Given the description of an element on the screen output the (x, y) to click on. 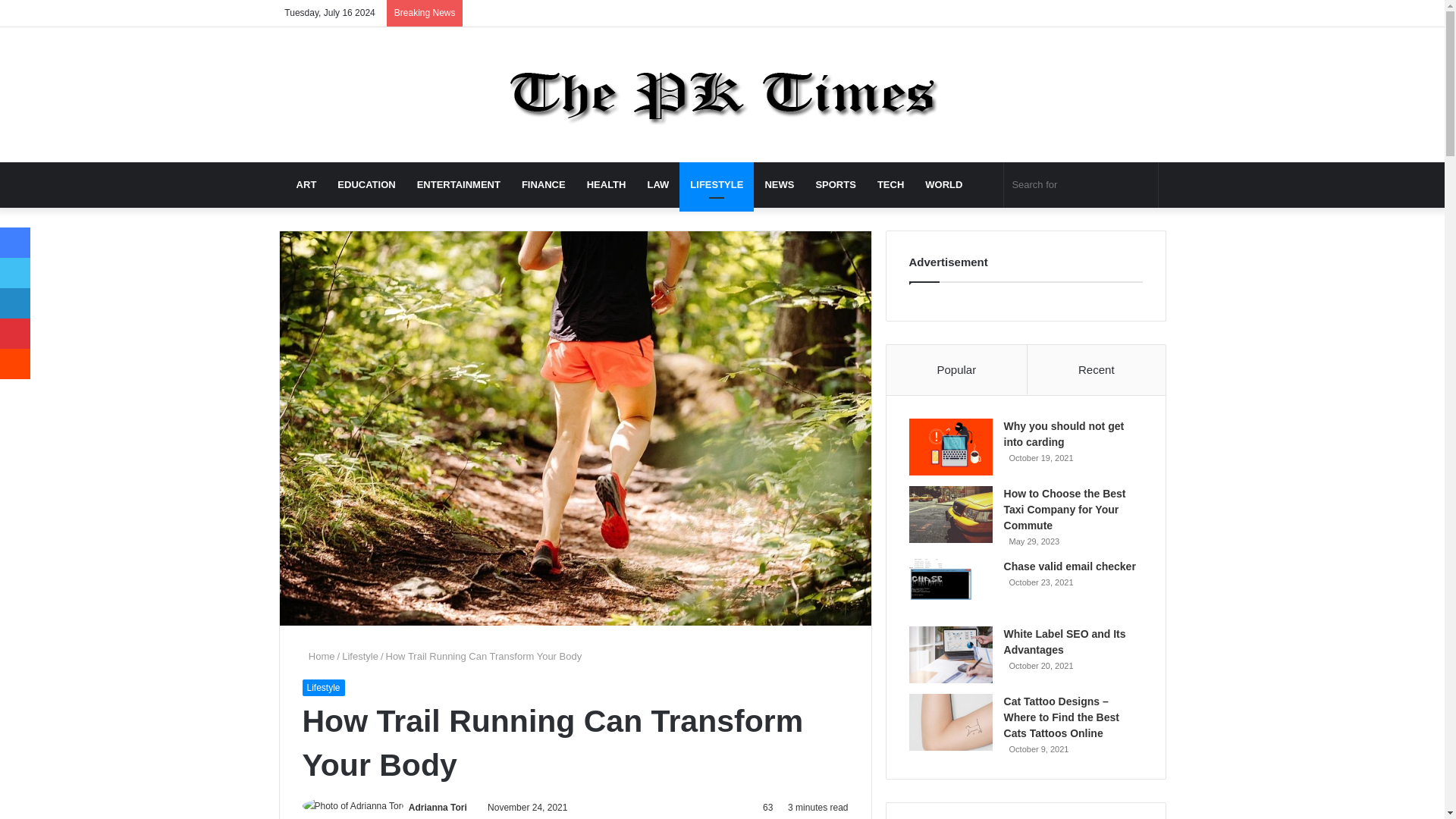
ART (306, 185)
Search for (1080, 185)
Adrianna Tori (438, 807)
NEWS (779, 185)
Adrianna Tori (438, 807)
TECH (890, 185)
Lifestyle (322, 687)
SPORTS (835, 185)
WORLD (943, 185)
ENTERTAINMENT (458, 185)
FINANCE (543, 185)
HEALTH (606, 185)
EDUCATION (366, 185)
LAW (657, 185)
LIFESTYLE (716, 185)
